Given the description of an element on the screen output the (x, y) to click on. 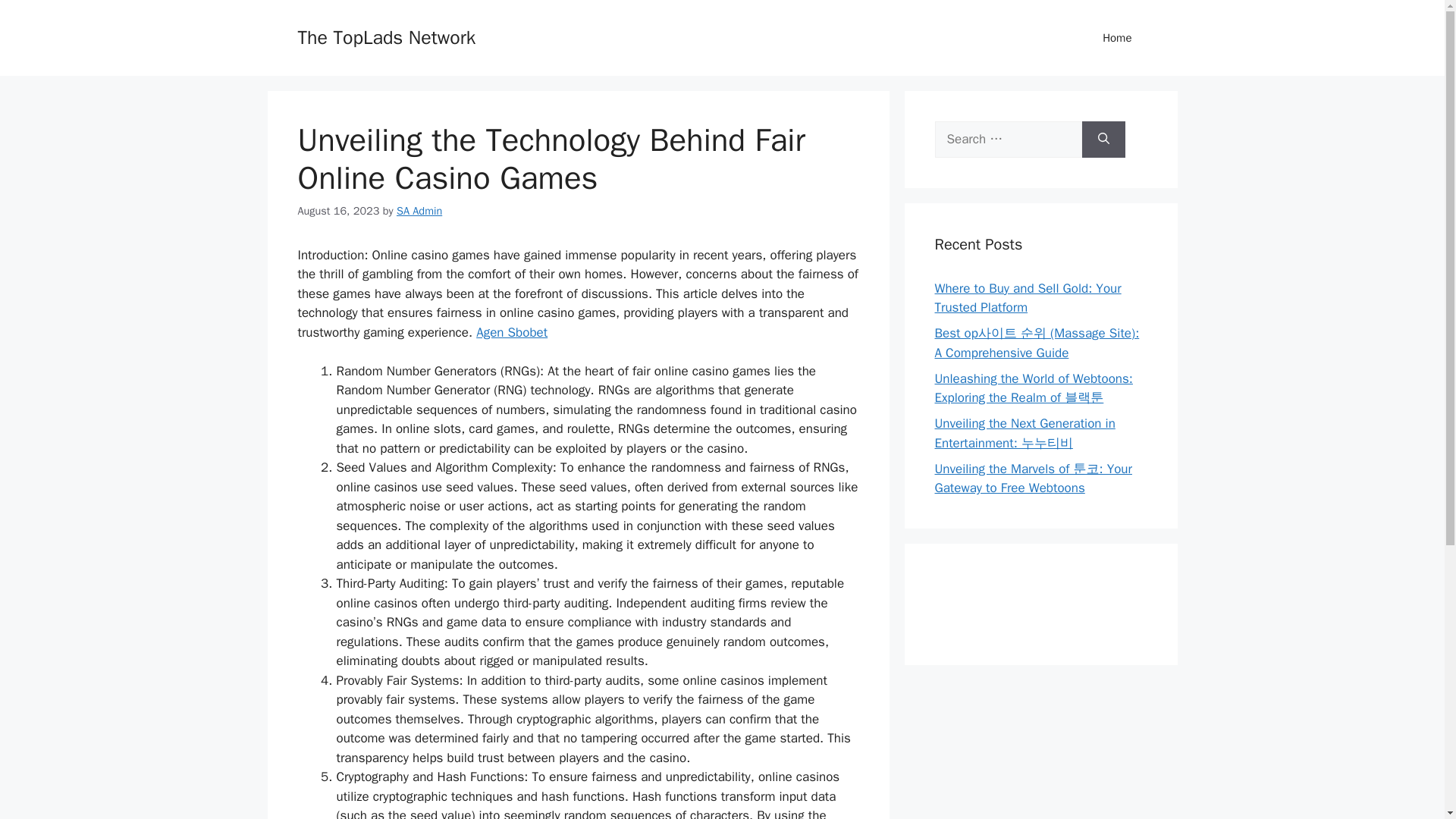
Search for: (1007, 139)
SA Admin (419, 210)
Where to Buy and Sell Gold: Your Trusted Platform (1027, 298)
The TopLads Network (386, 37)
Agen Sbobet (511, 332)
Home (1117, 37)
View all posts by SA Admin (419, 210)
